Given the description of an element on the screen output the (x, y) to click on. 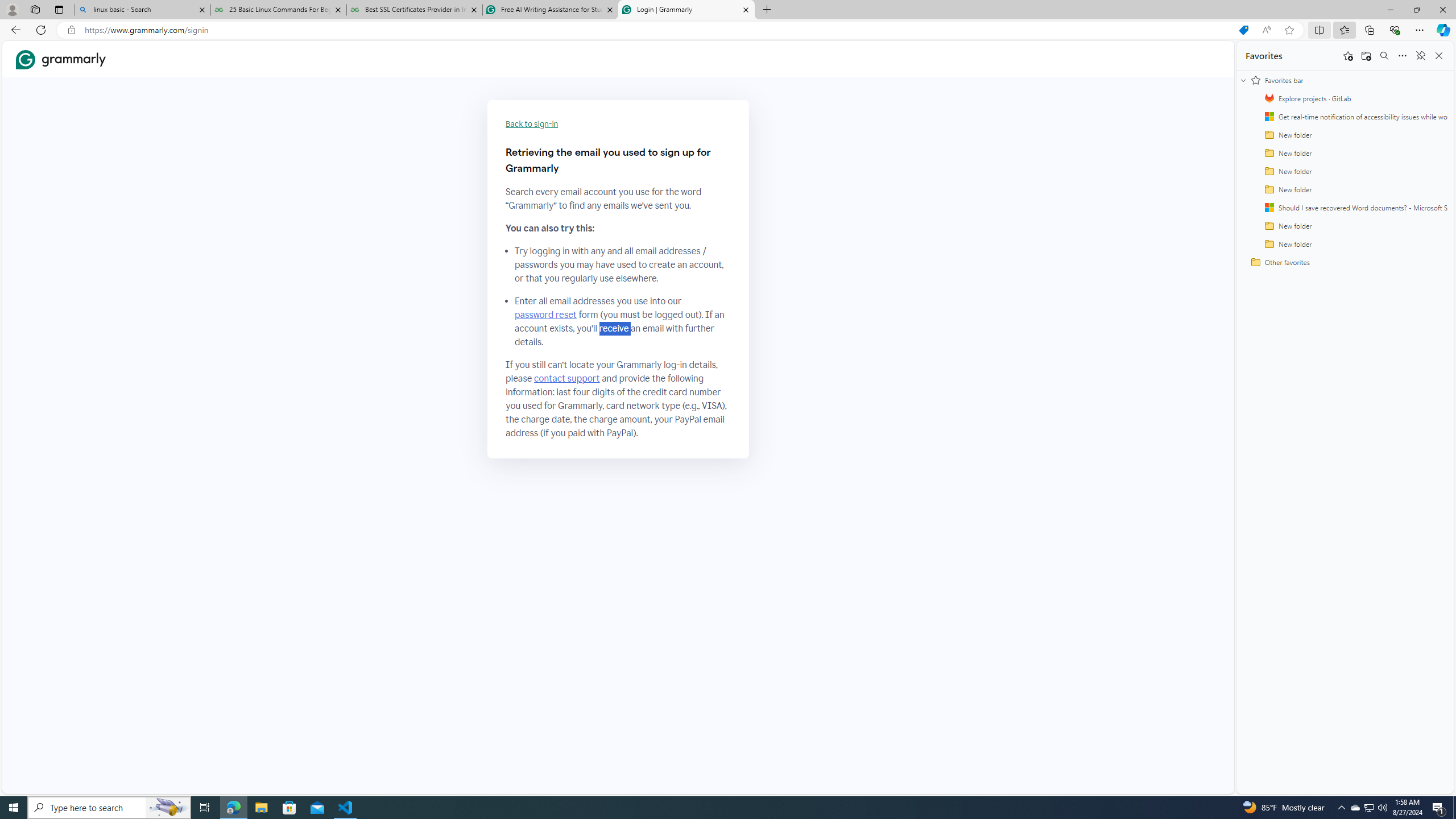
Back to sign-in (532, 124)
linux basic - Search (142, 9)
Unpin favorites (1420, 55)
password reset (545, 314)
contact support (566, 378)
Free AI Writing Assistance for Students | Grammarly (550, 9)
